Given the description of an element on the screen output the (x, y) to click on. 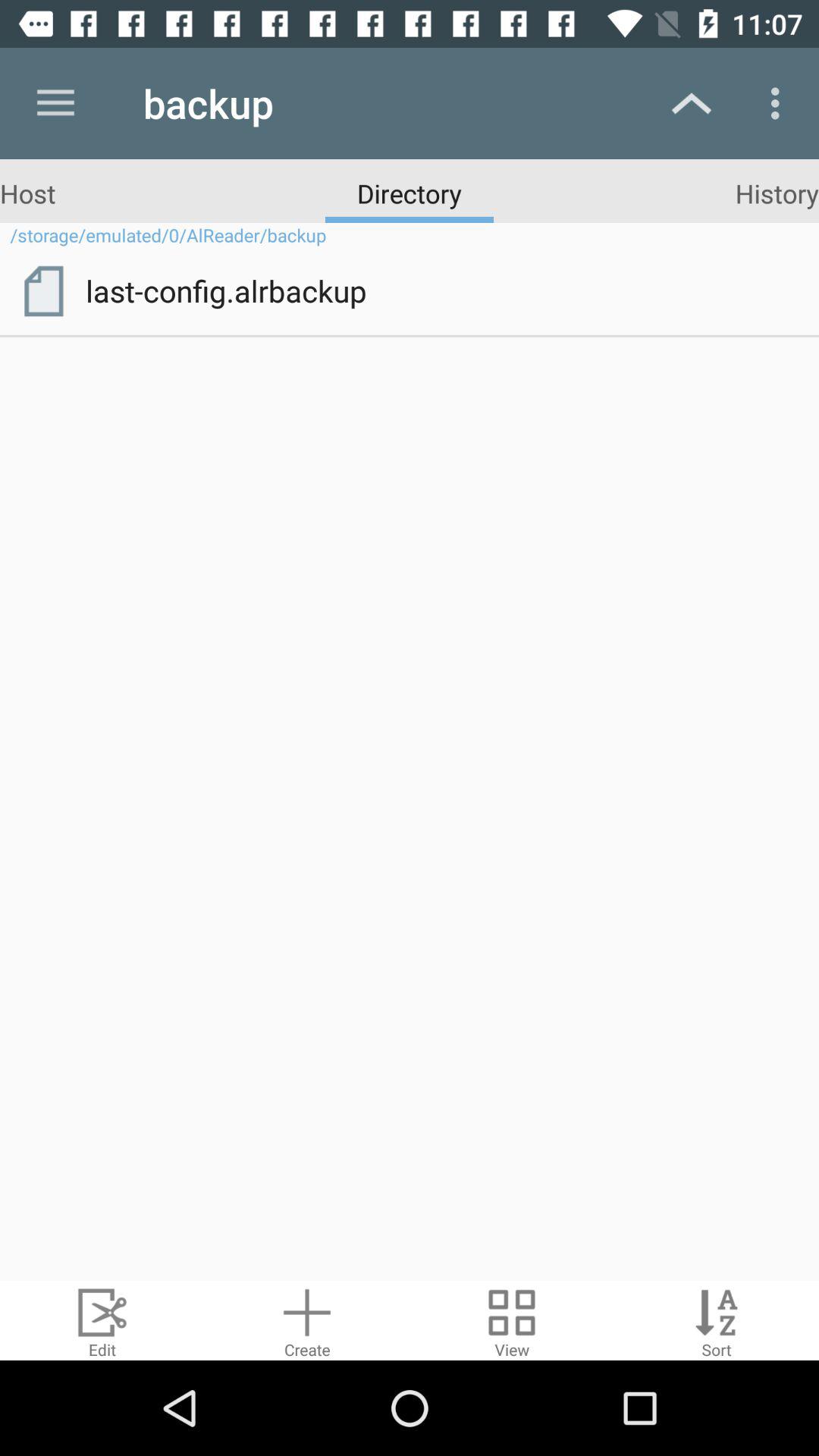
create new (306, 1320)
